Given the description of an element on the screen output the (x, y) to click on. 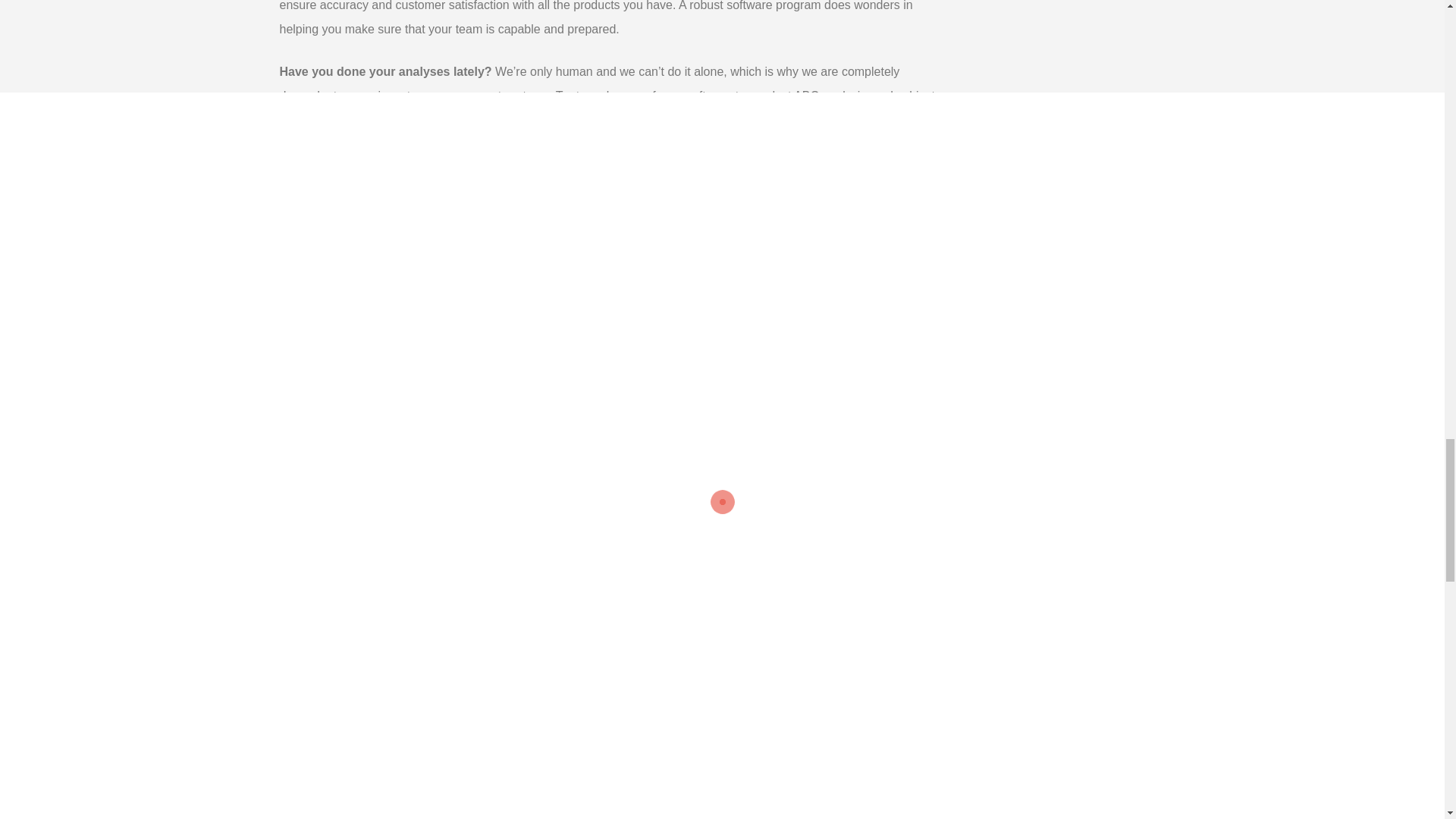
inventory management software applications (715, 447)
automated (834, 581)
Click here (597, 196)
